Given the description of an element on the screen output the (x, y) to click on. 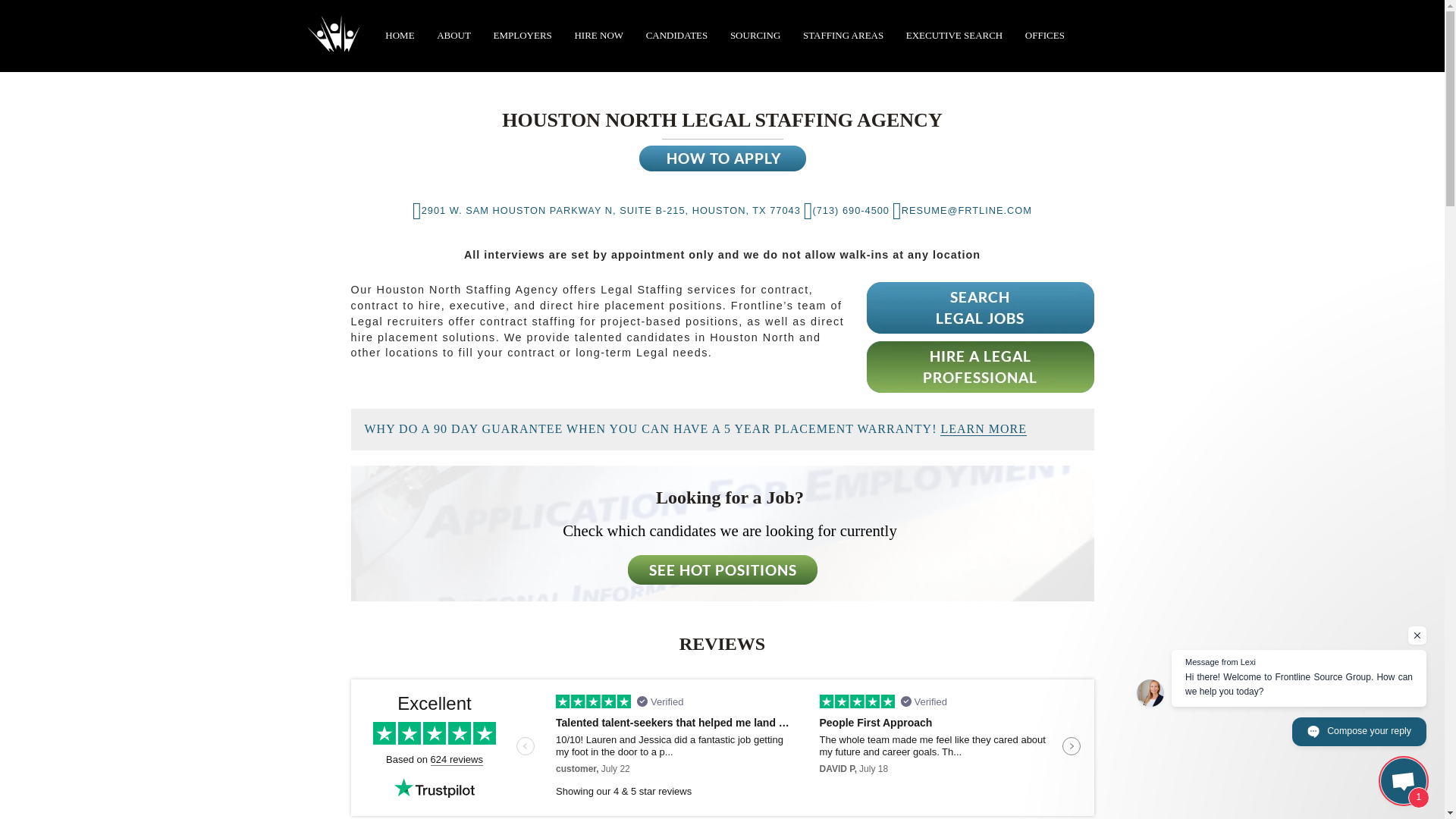
Candidates (676, 35)
CANDIDATES (676, 35)
SOURCING (755, 35)
EMPLOYERS (522, 35)
HIRE NOW (598, 35)
STAFFING AREAS (843, 35)
EXECUTIVE SEARCH (953, 35)
Employers (522, 35)
Hire Now (598, 35)
